Given the description of an element on the screen output the (x, y) to click on. 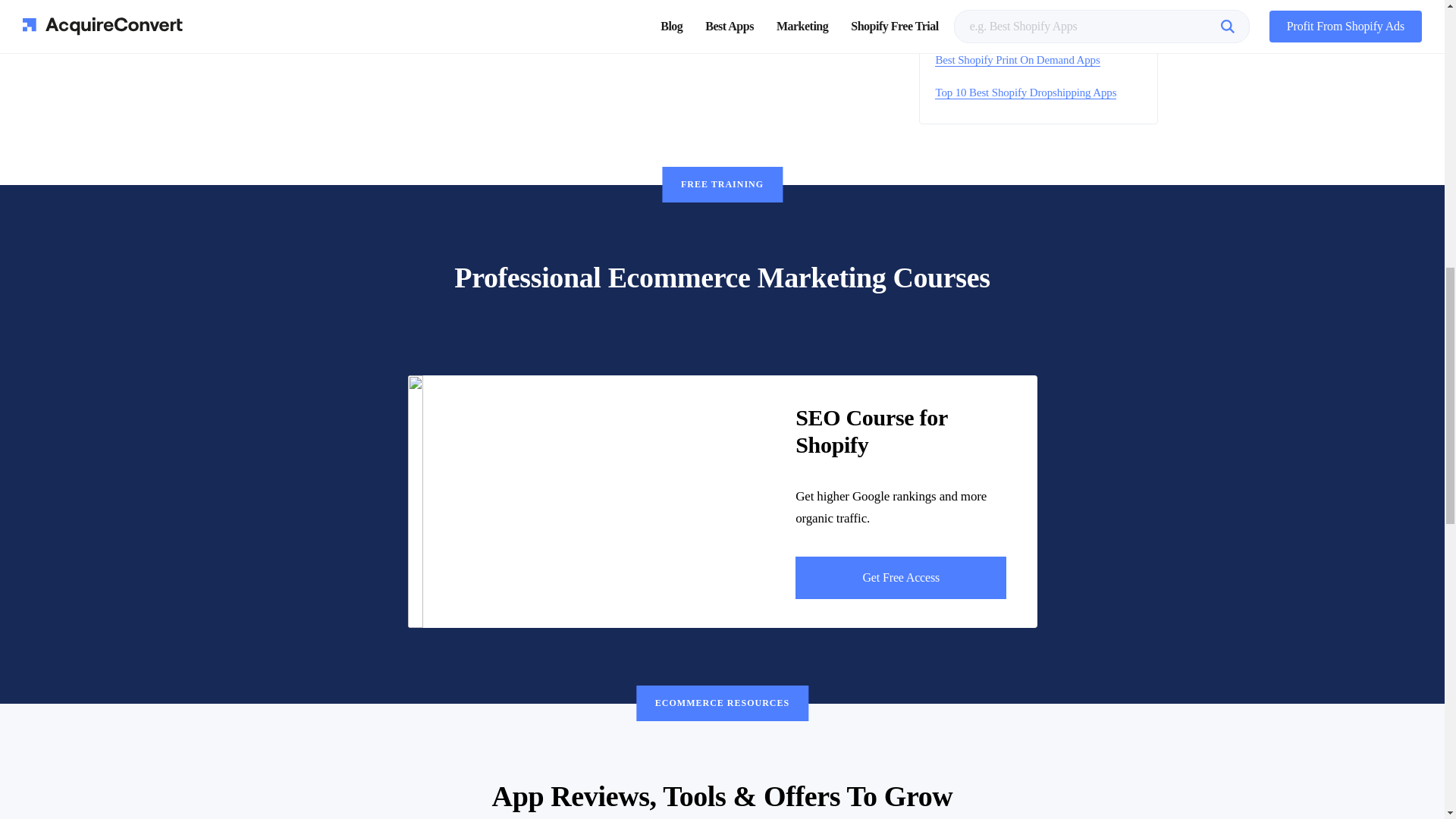
Top 10 Best Shopify Dropshipping Apps (1025, 92)
Best Shopify Apps (975, 27)
Best Shopify Print On Demand Apps (1016, 60)
Get Free Access (900, 577)
